Given the description of an element on the screen output the (x, y) to click on. 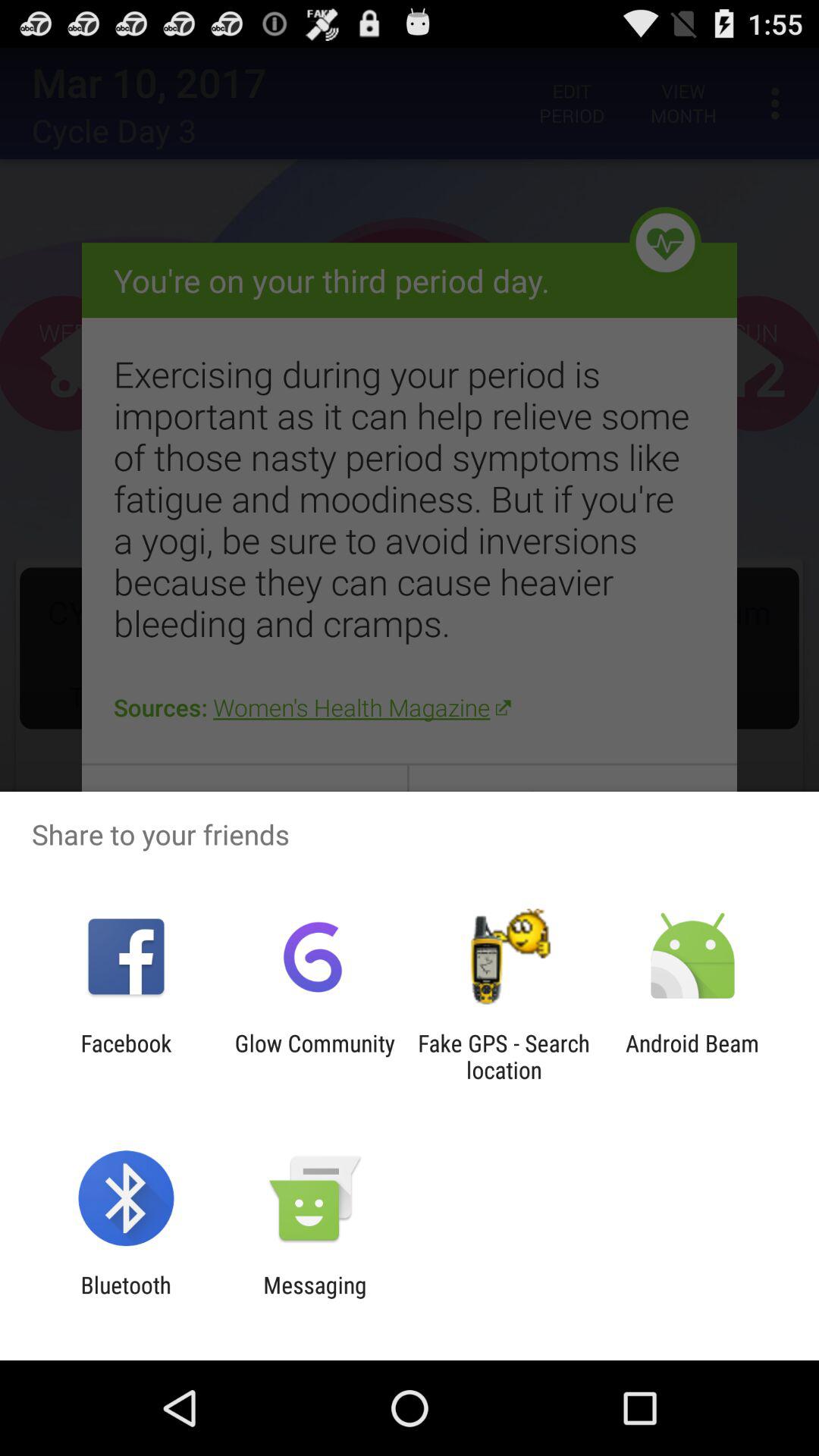
click the messaging item (314, 1298)
